Given the description of an element on the screen output the (x, y) to click on. 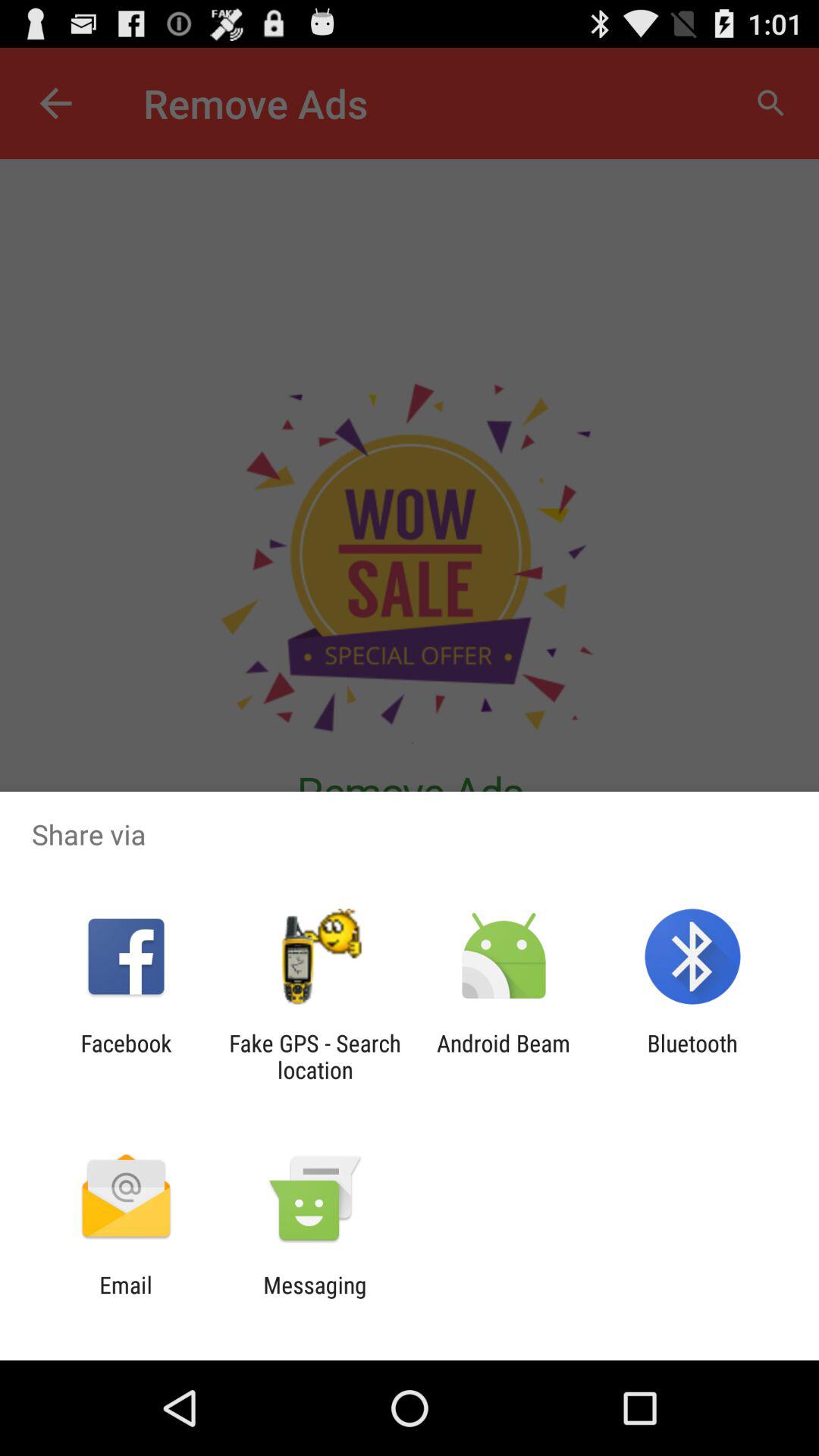
jump to the email icon (125, 1298)
